Given the description of an element on the screen output the (x, y) to click on. 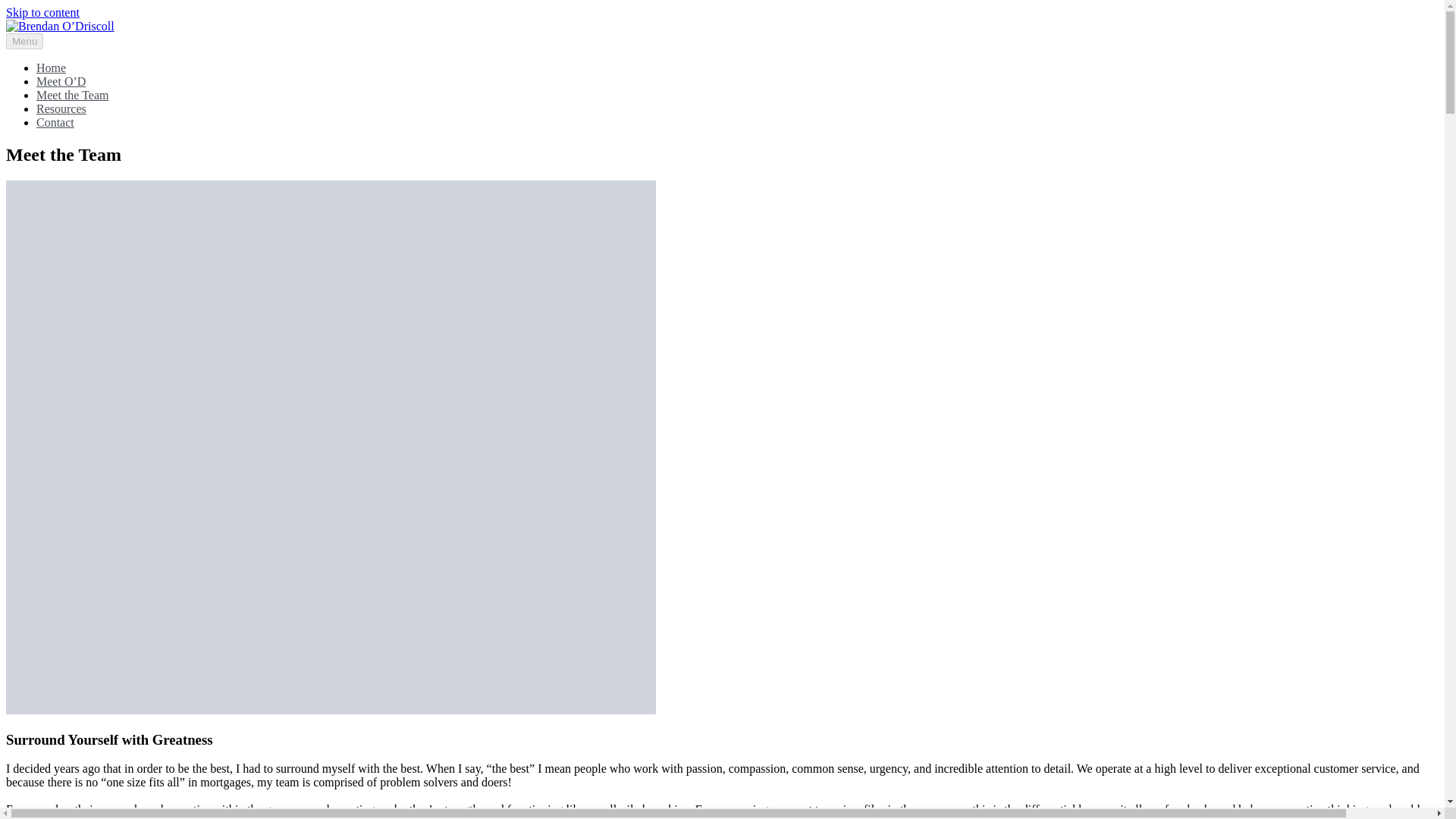
Skip to content (42, 11)
Meet the Team (71, 94)
Menu (24, 41)
Resources (60, 108)
Contact (55, 122)
Home (50, 67)
